Given the description of an element on the screen output the (x, y) to click on. 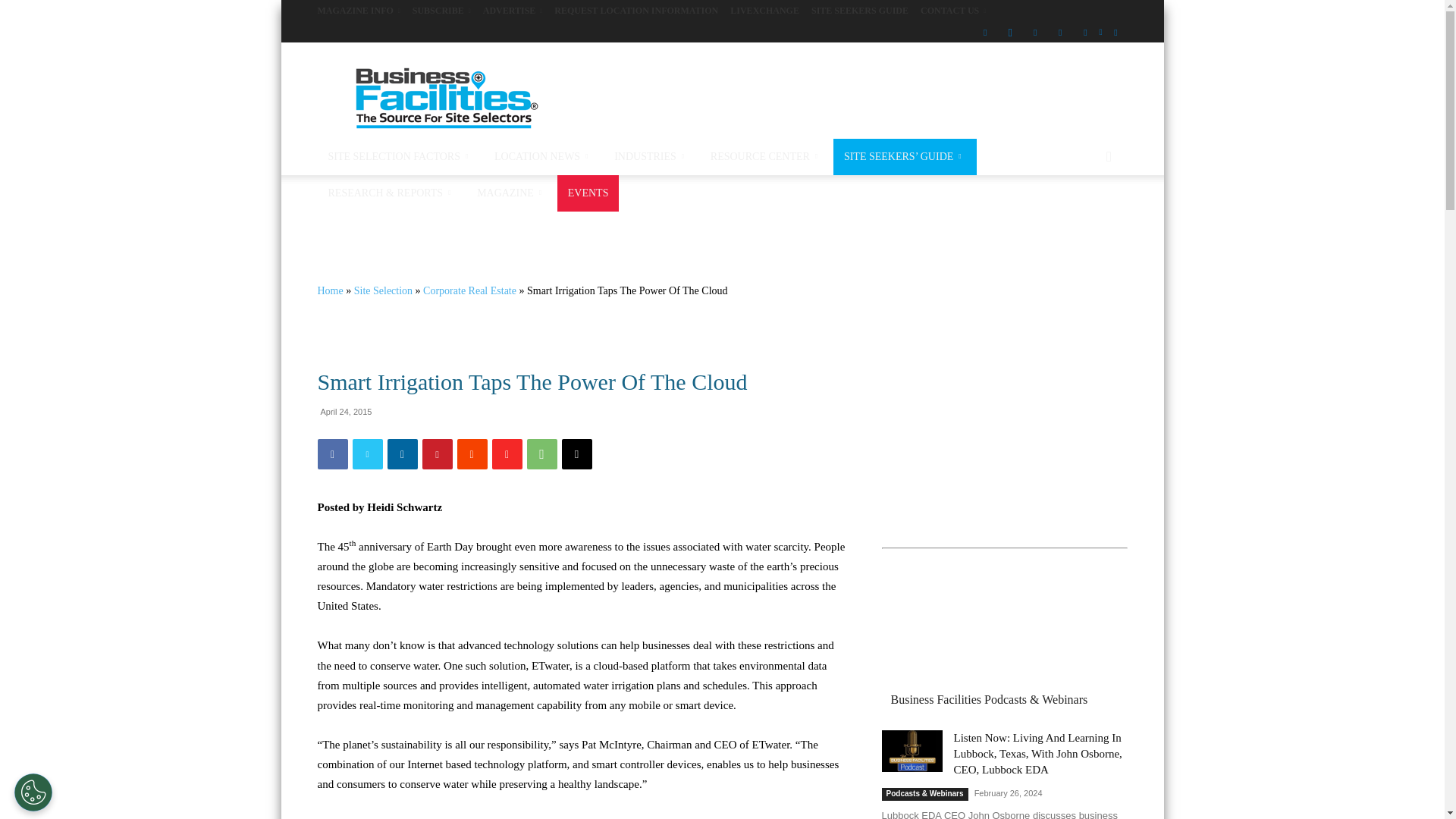
Pinterest (1059, 32)
Facebook (984, 32)
Youtube (1114, 32)
3rd party ad content (850, 97)
Instagram (1010, 32)
RSS (1085, 32)
The Source for Site Selectors. (445, 97)
Linkedin (1034, 32)
